Given the description of an element on the screen output the (x, y) to click on. 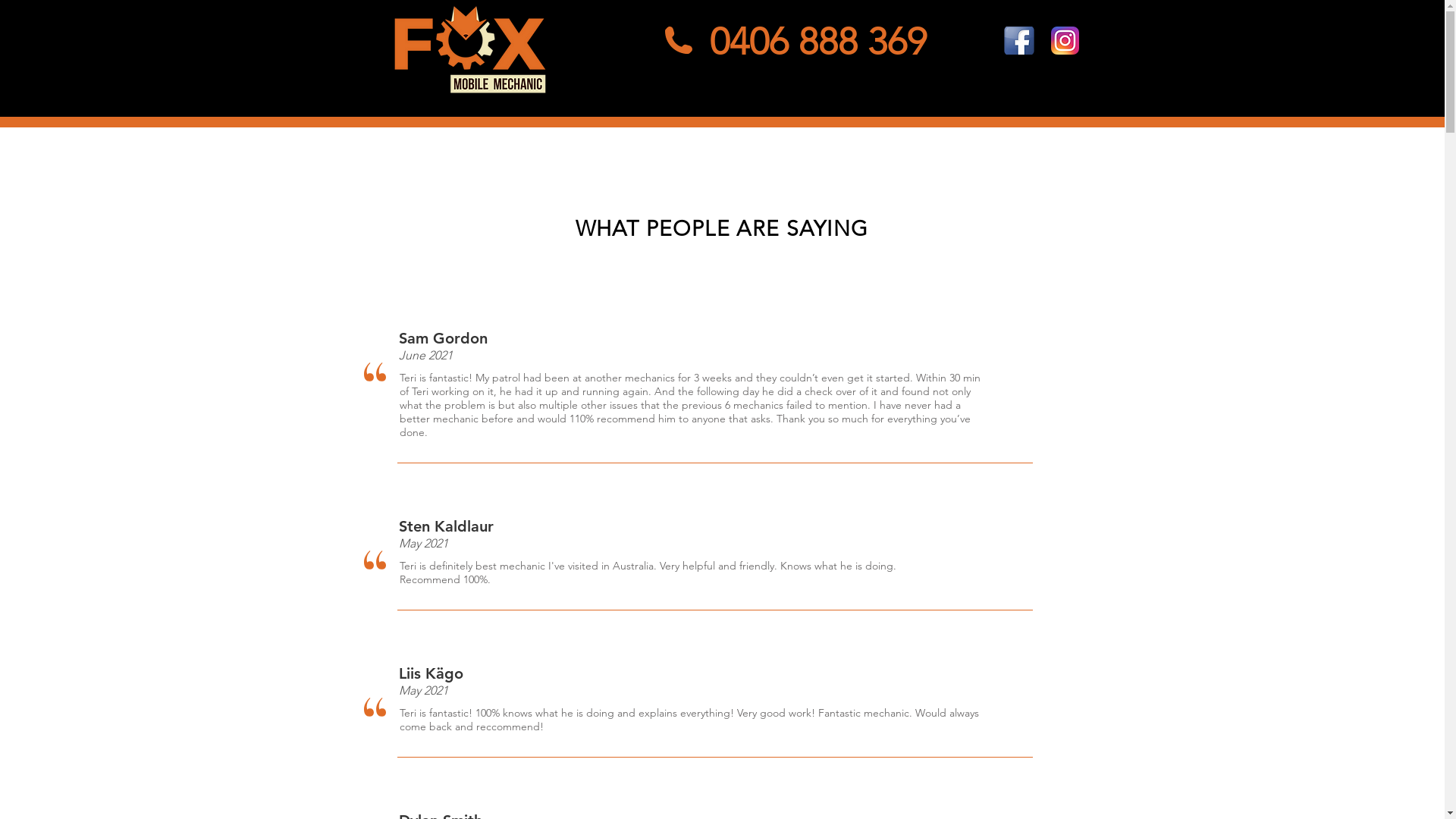
0406 888 369 Element type: text (817, 41)
